Given the description of an element on the screen output the (x, y) to click on. 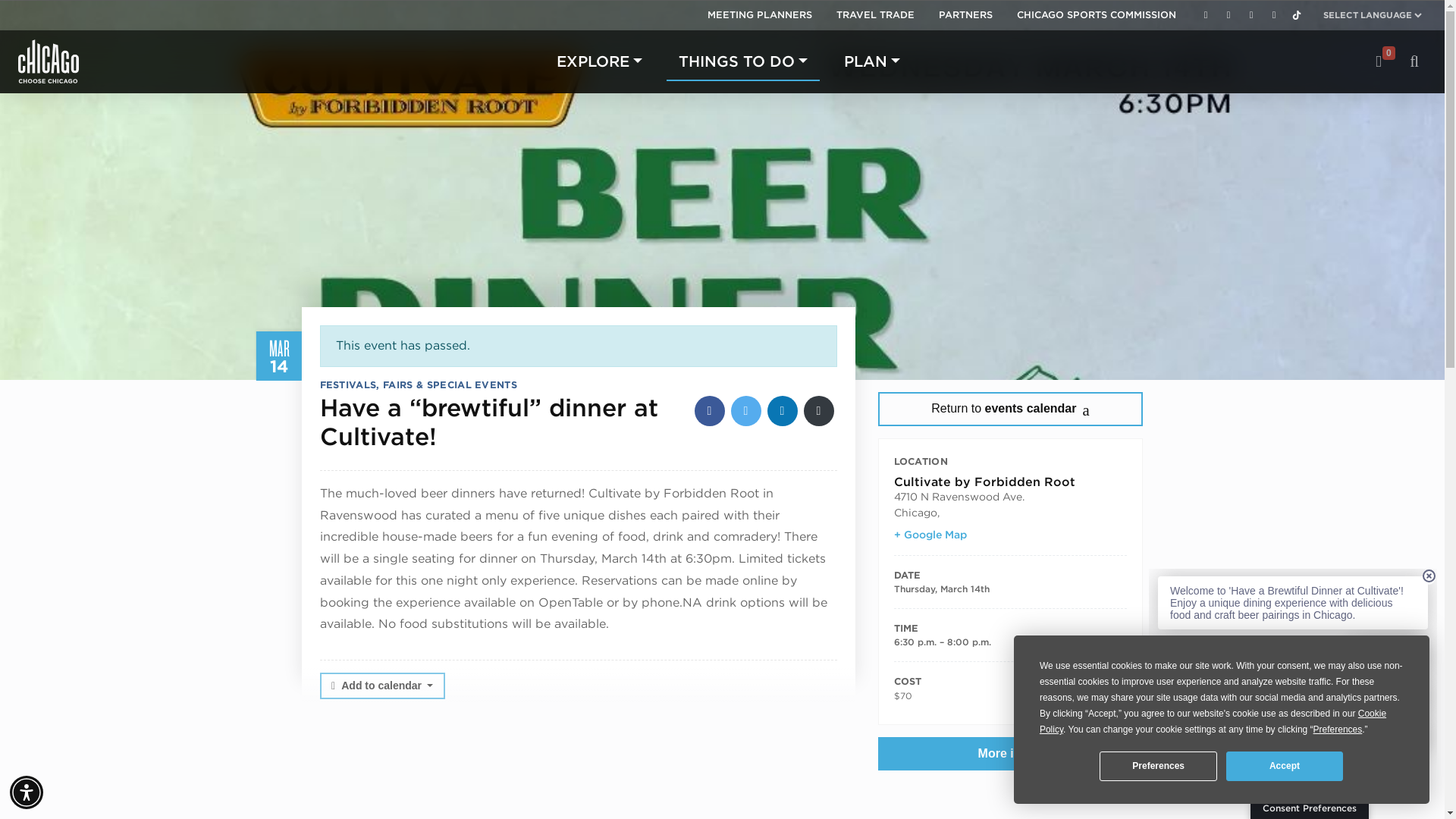
THINGS TO DO (742, 61)
Share on Facebook (709, 410)
EXPLORE (598, 61)
Email a friend (818, 410)
Click to view a Google Map (929, 534)
Preferences (1157, 766)
Share on Twitter (745, 410)
2024-03-14 (940, 588)
Accept (1283, 766)
Accessibility Menu (26, 792)
Share on LinkedIn (782, 410)
2024-03-14 (1009, 642)
